Given the description of an element on the screen output the (x, y) to click on. 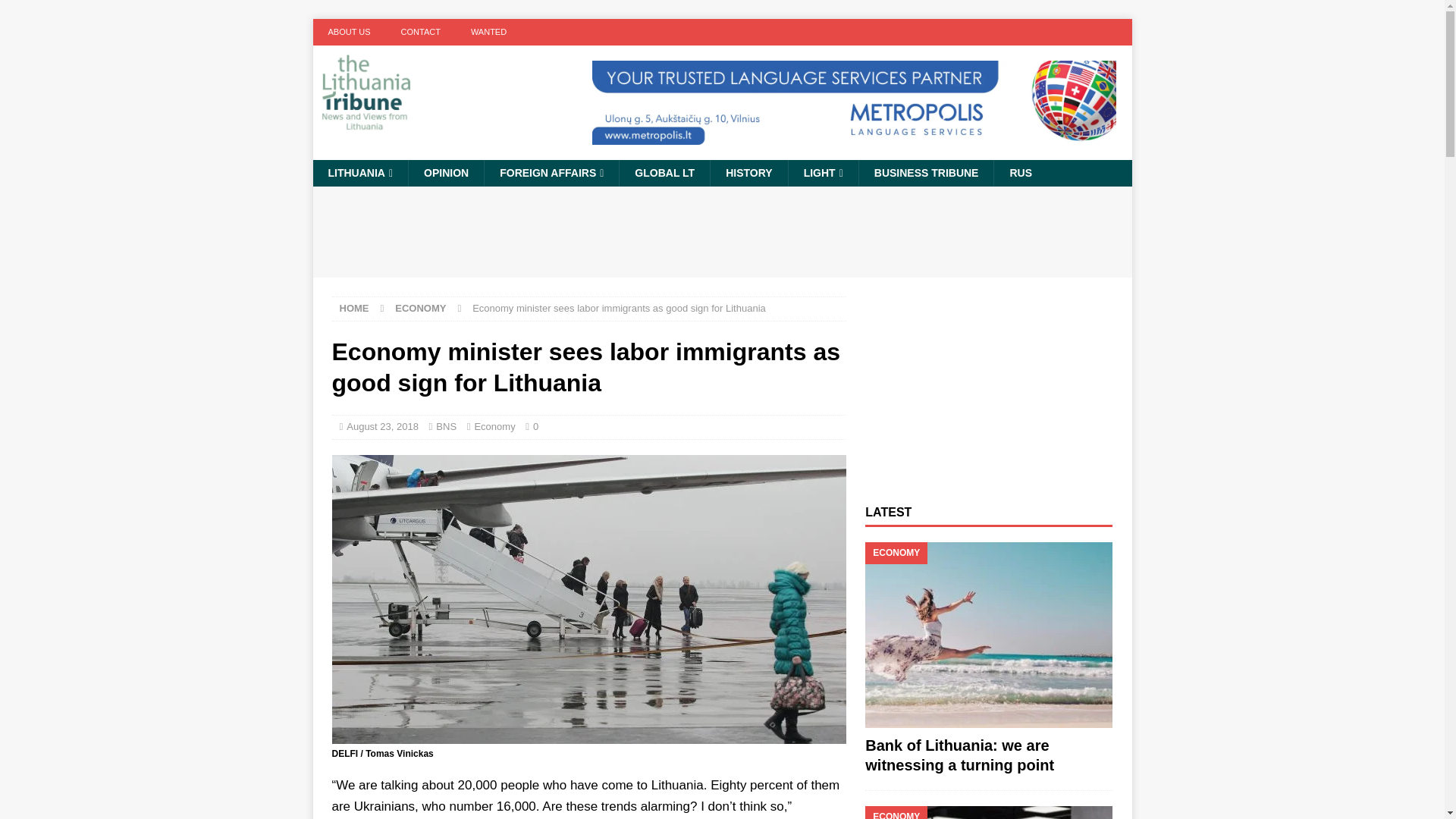
CONTACT (420, 31)
WANTED (488, 31)
LITHUANIA (360, 172)
ABOUT US (349, 31)
